Given the description of an element on the screen output the (x, y) to click on. 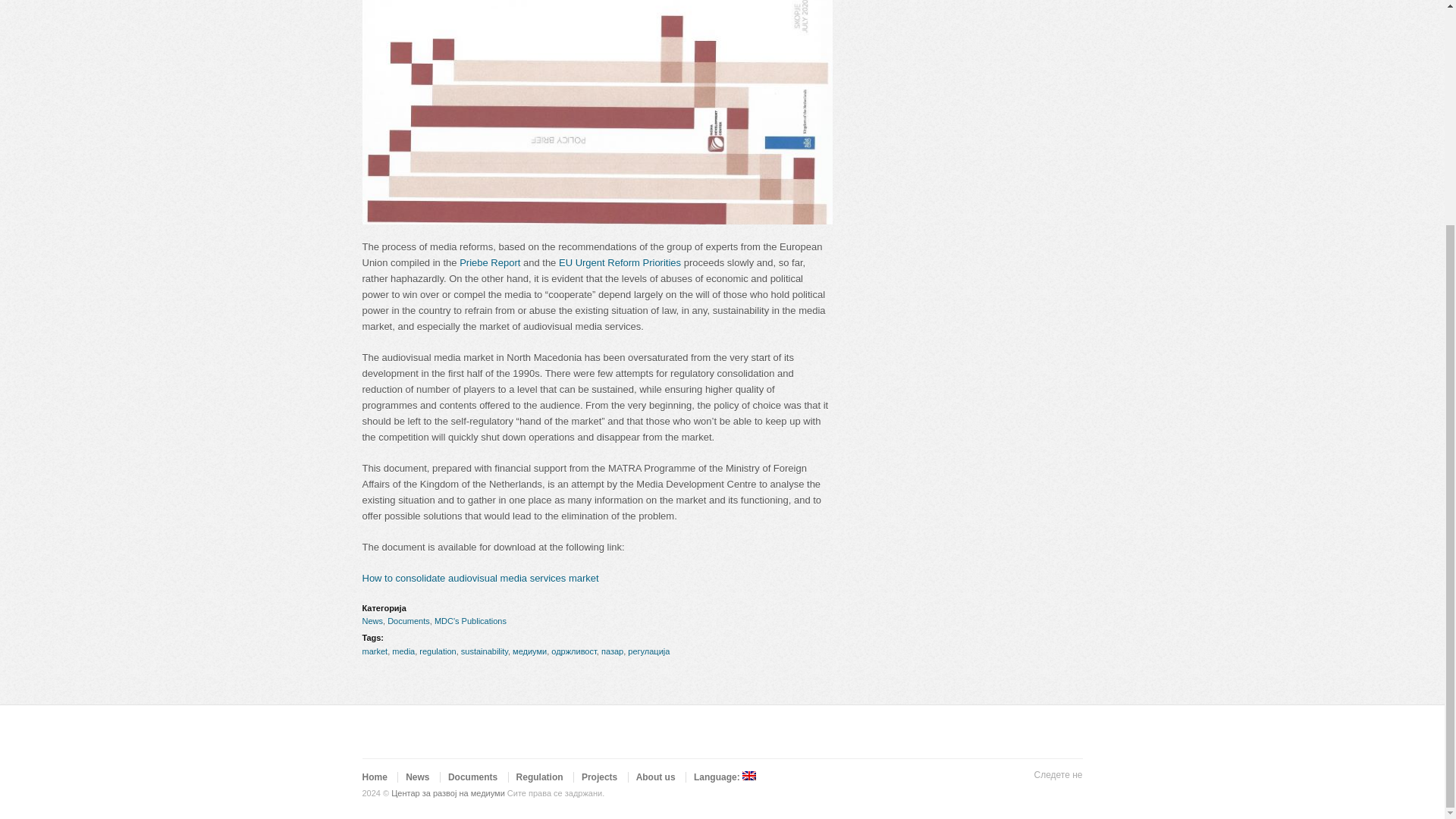
Follow us on Google Plus (1024, 793)
Priebe Report (489, 262)
Follow us on Twitter (976, 793)
EU Urgent Reform Priorities (620, 262)
market (375, 651)
Become a fan on Facebook (1000, 793)
English (724, 777)
News (373, 620)
How to consolidate audiovisual media services market (480, 577)
MDC's Publications (469, 620)
Subscriber to RSS Feed (1049, 793)
Newsletter (1073, 793)
Documents (408, 620)
